Given the description of an element on the screen output the (x, y) to click on. 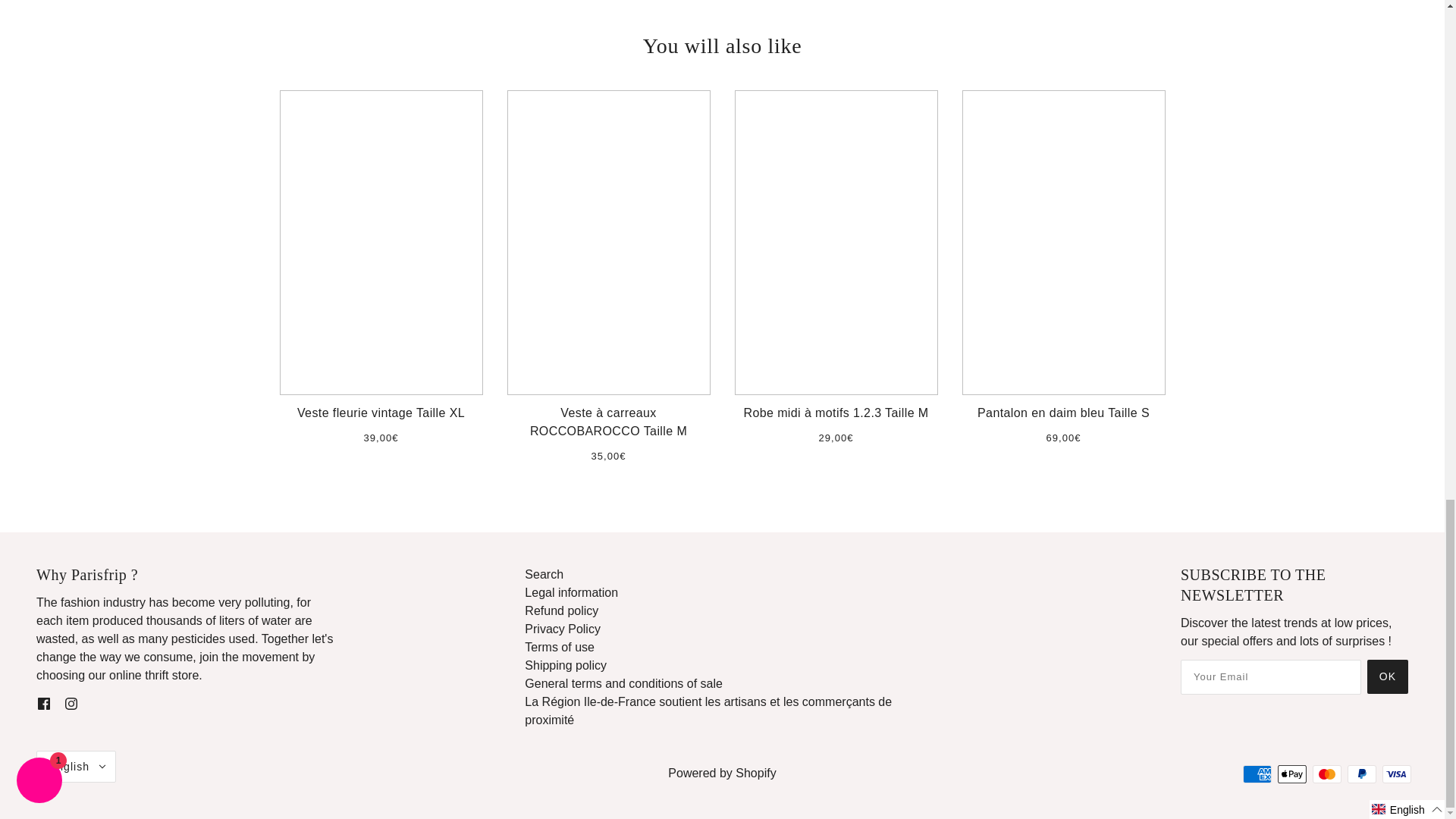
Terms of use (559, 646)
Visa (1395, 773)
Mastercard (1326, 773)
Apple Pay (1292, 773)
General terms and conditions of sale (623, 683)
Refund policy (561, 610)
Search (543, 574)
Shipping policy (565, 665)
Privacy Policy (561, 628)
American Express (1257, 773)
Legal information (570, 592)
PayPal (1361, 773)
